Given the description of an element on the screen output the (x, y) to click on. 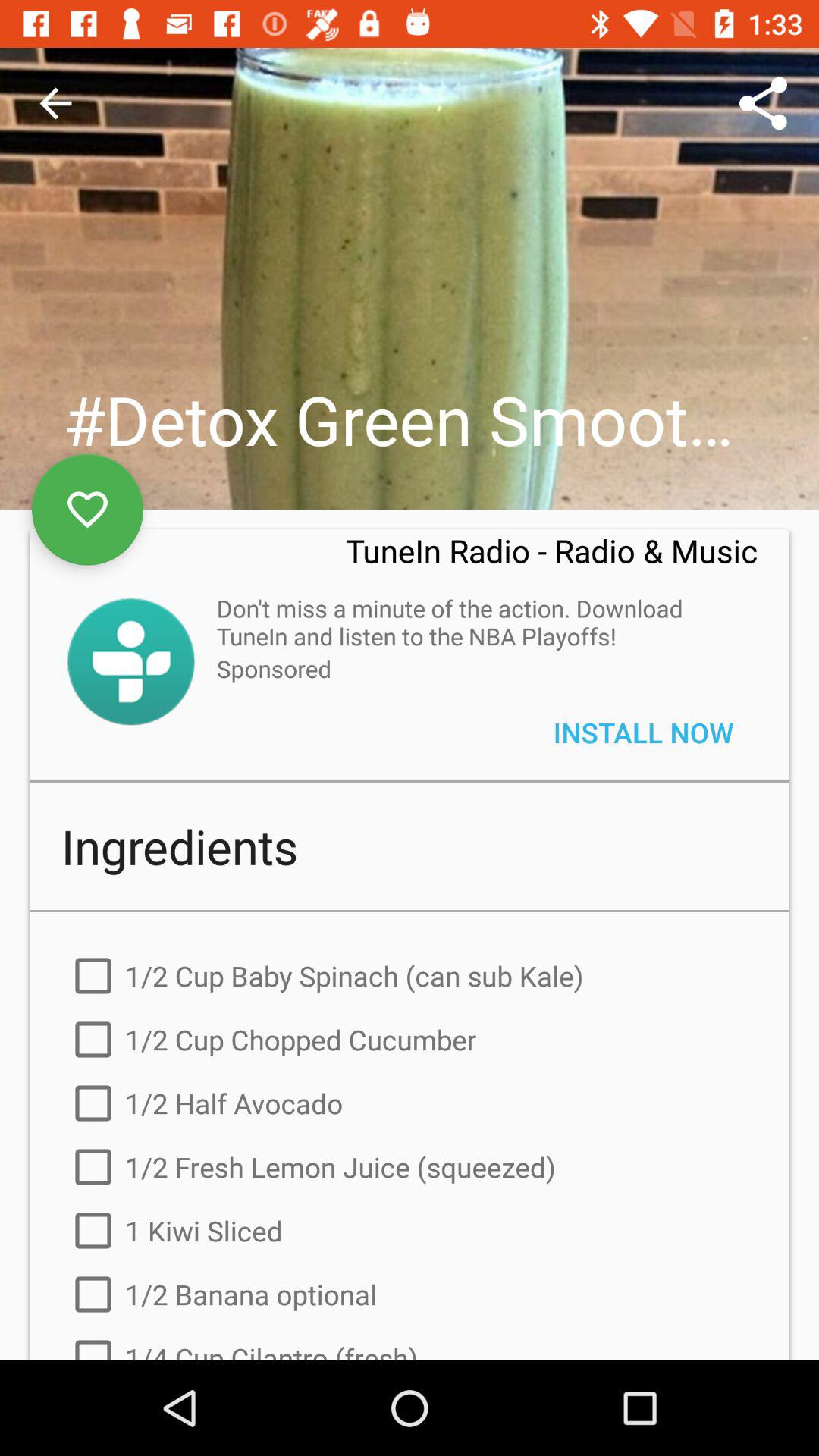
jump to the install now item (643, 732)
